Given the description of an element on the screen output the (x, y) to click on. 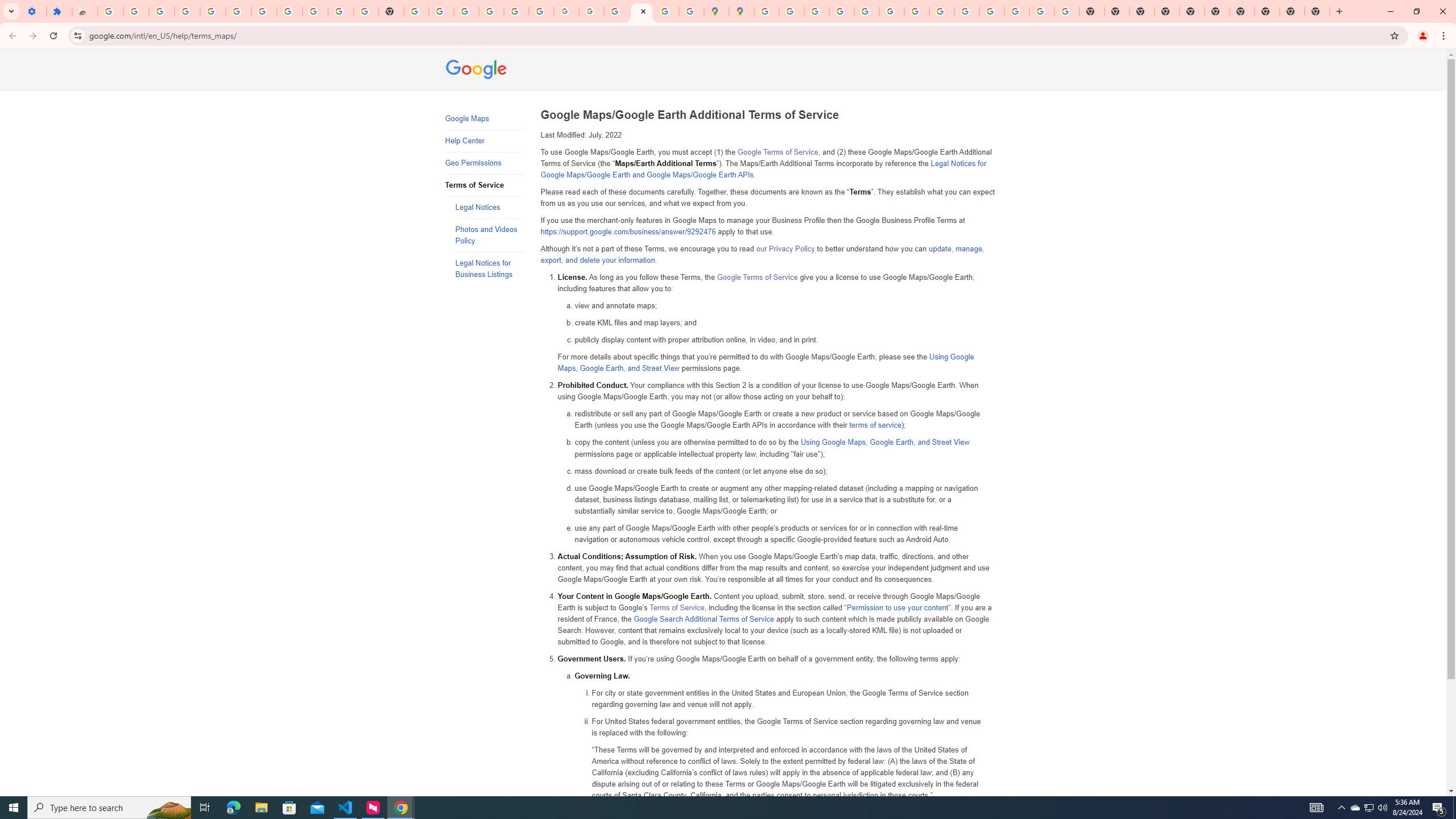
Sign in - Google Accounts (264, 11)
Back (10, 35)
Bookmark this tab (1393, 35)
Google (477, 70)
Google Account (315, 11)
YouTube (916, 11)
Chrome (1445, 35)
System (6, 6)
Google Maps (484, 118)
Using Google Maps, Google Earth, and Street View (884, 442)
System (6, 6)
Safety in Our Products - Google Safety Center (691, 11)
Delete photos & videos - Computer - Google Photos Help (186, 11)
